Given the description of an element on the screen output the (x, y) to click on. 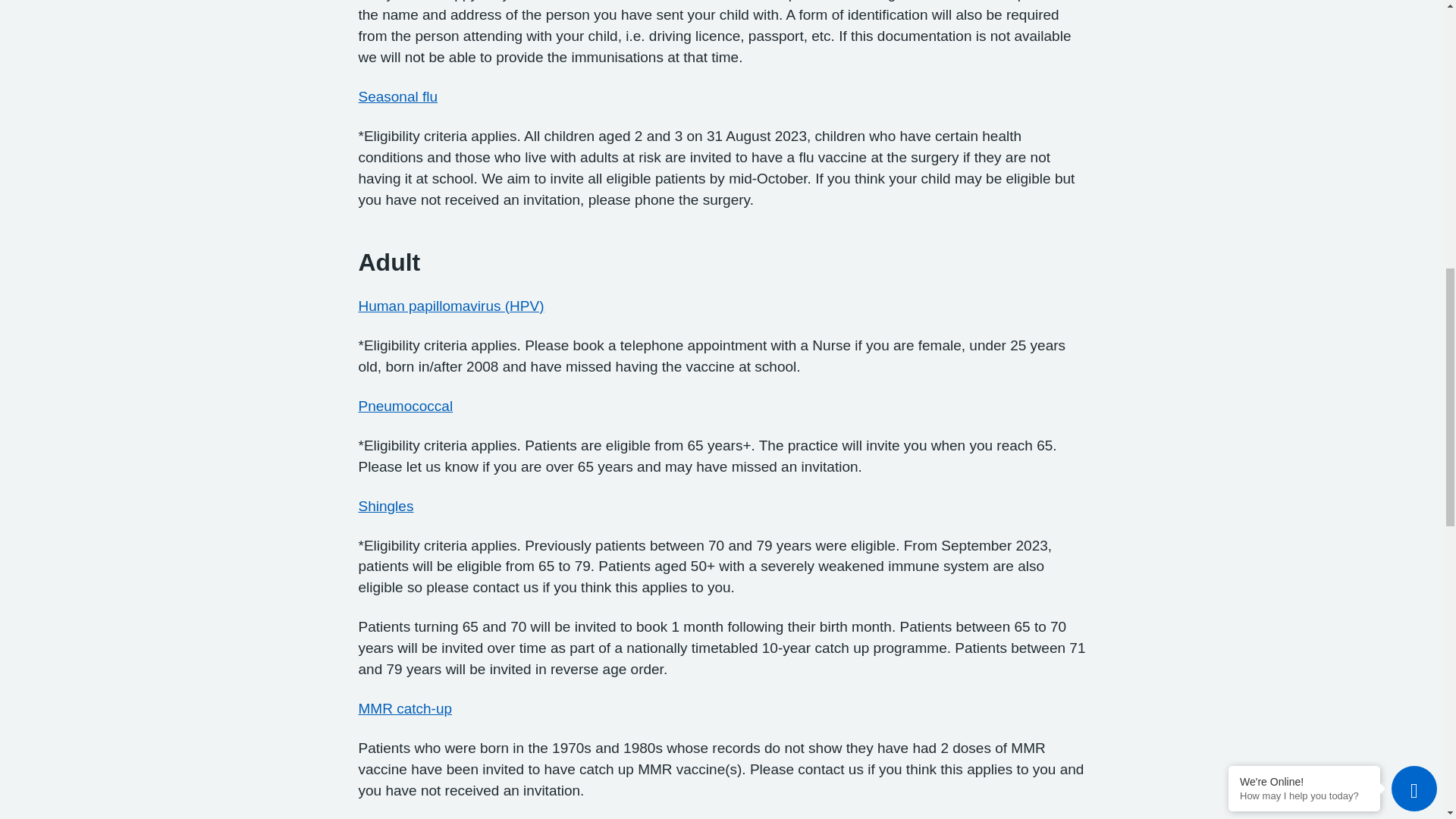
Shingles (385, 505)
MMR catch-up (404, 708)
Pneumococcal (405, 406)
Seasonal flu (398, 96)
